Given the description of an element on the screen output the (x, y) to click on. 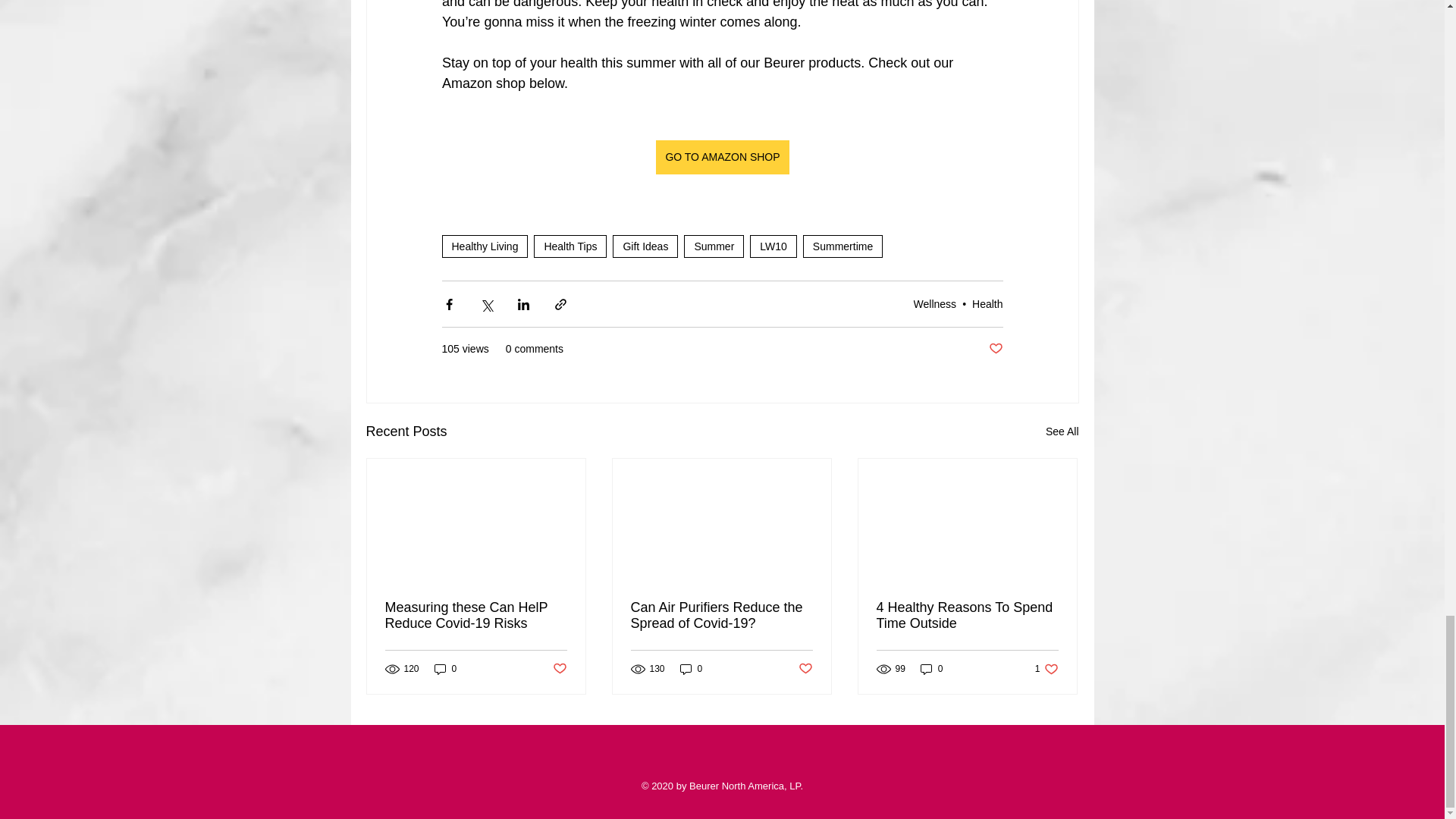
Wellness (935, 304)
Healthy Living (484, 246)
LW10 (772, 246)
Summertime (842, 246)
See All (1061, 431)
Post not marked as liked (995, 349)
Health (987, 304)
Health Tips (570, 246)
Gift Ideas (645, 246)
Summer (714, 246)
